Given the description of an element on the screen output the (x, y) to click on. 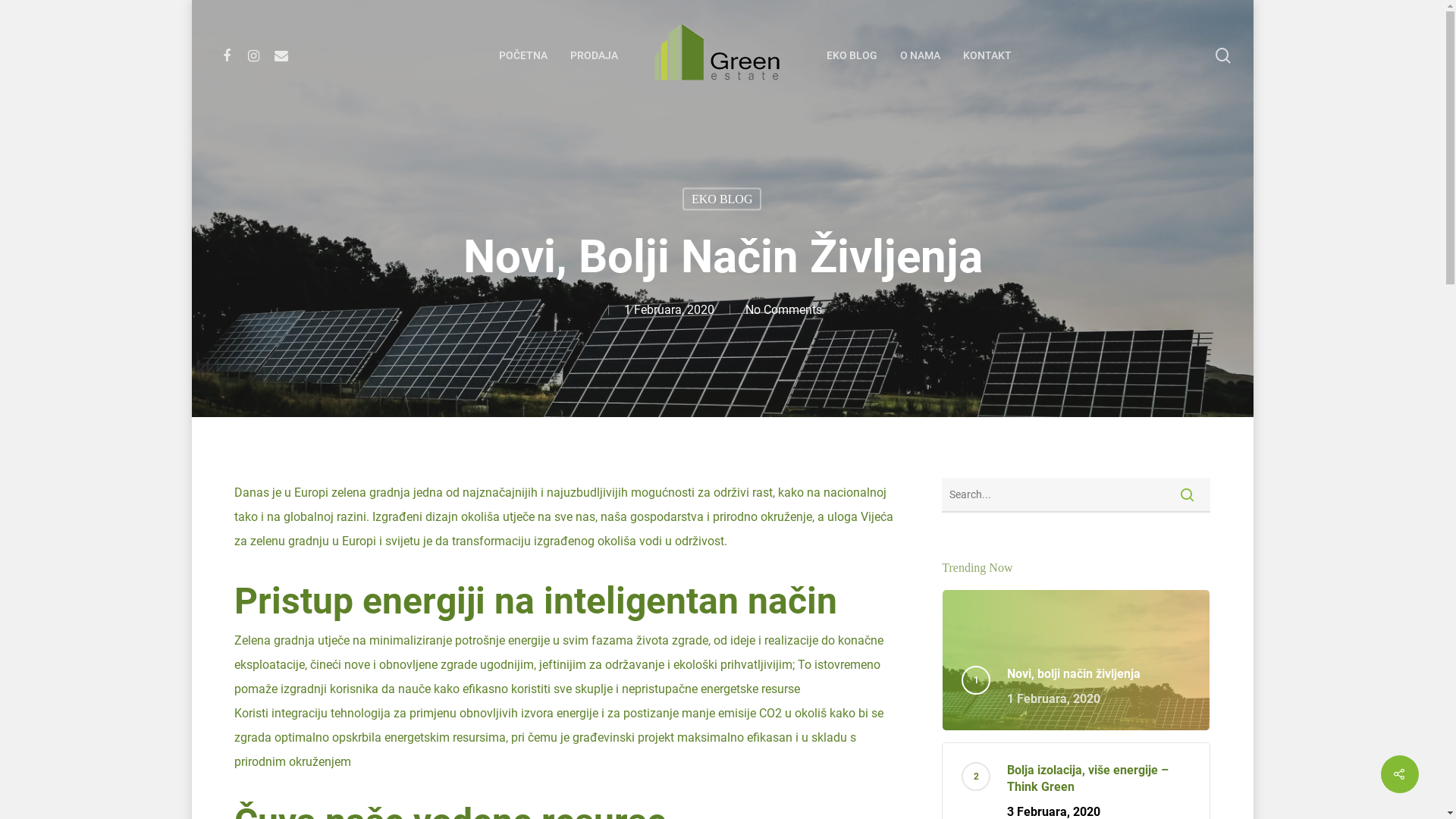
No Comments Element type: text (782, 308)
Search for: Element type: hover (1075, 494)
EKO BLOG Element type: text (721, 199)
EKO BLOG Element type: text (851, 55)
KONTAKT Element type: text (987, 55)
O NAMA Element type: text (919, 55)
PRODAJA Element type: text (594, 55)
